Given the description of an element on the screen output the (x, y) to click on. 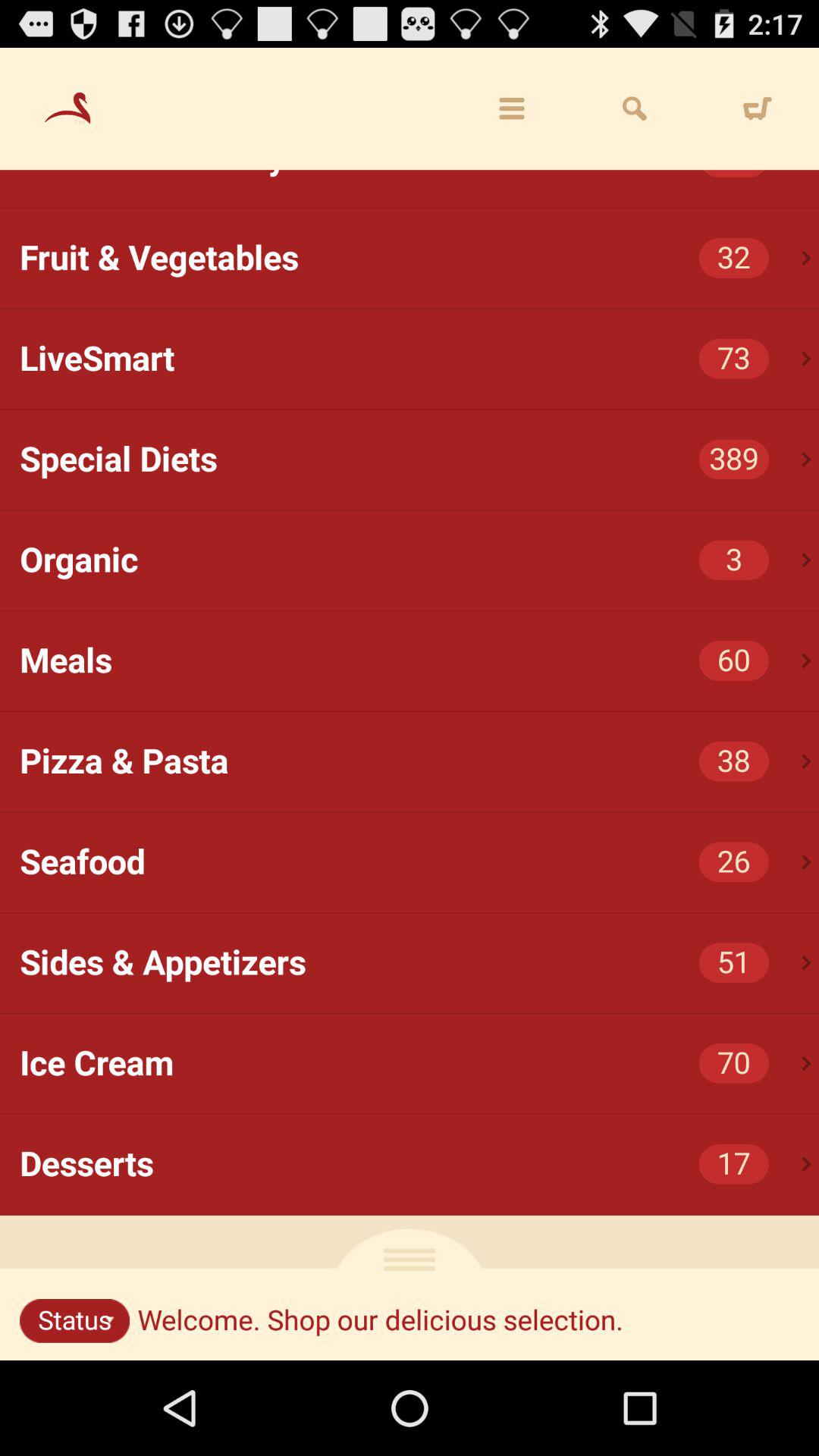
scroll until the 51 icon (733, 962)
